Given the description of an element on the screen output the (x, y) to click on. 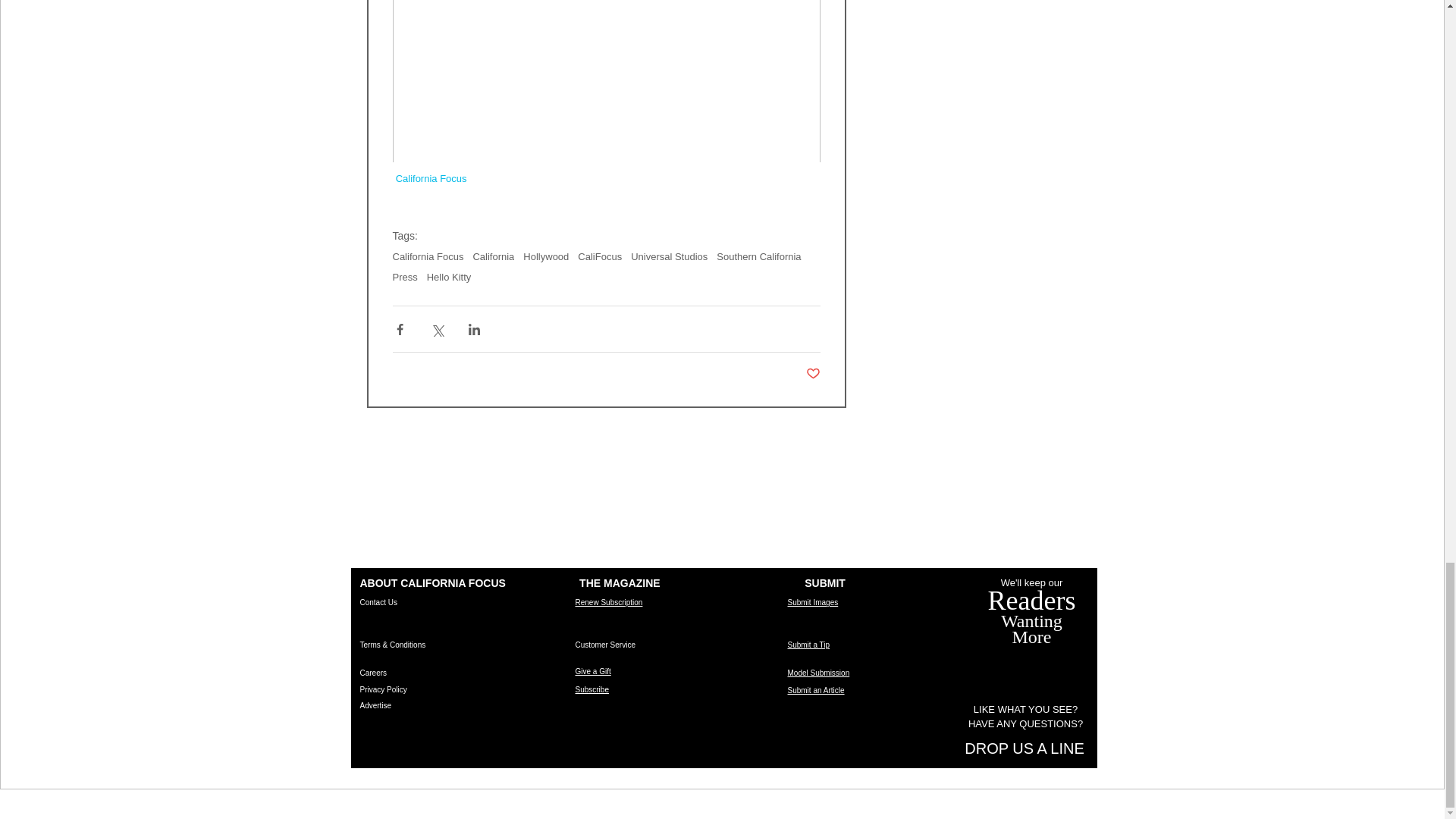
Universal Studios (668, 256)
Hello Kitty (448, 276)
Renew Subscription (608, 602)
Submit a Tip (808, 644)
Post not marked as liked (812, 374)
Careers (373, 673)
Privacy Policy (382, 689)
Customer Service (604, 644)
California Focus (429, 178)
Hollywood (545, 256)
